Given the description of an element on the screen output the (x, y) to click on. 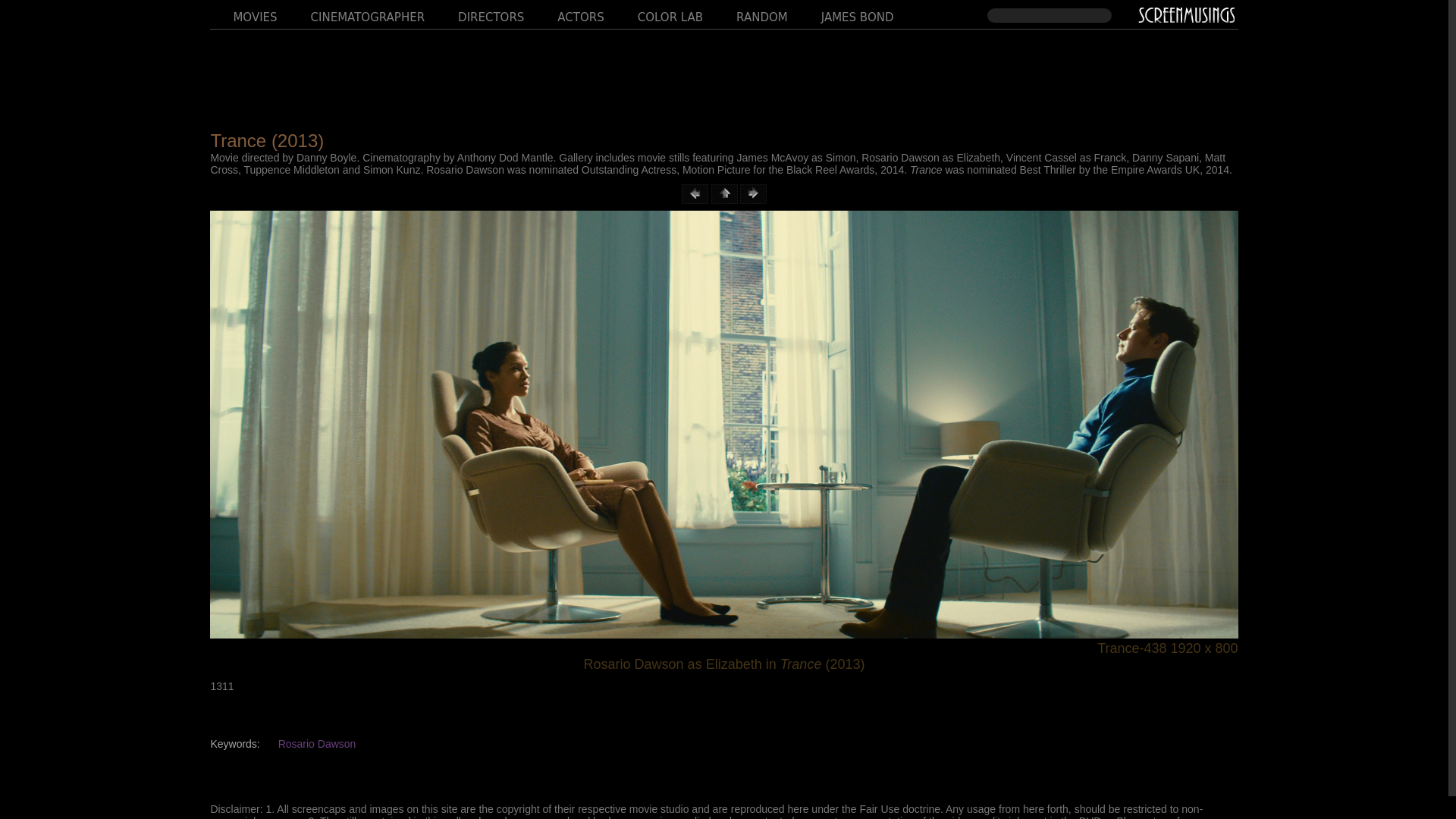
search movies, actors and artists (1049, 15)
CINEMATOGRAPHER (356, 12)
RANDOM (750, 12)
MOVIES (242, 12)
Advertisement (722, 70)
Trance-438 1920 x 800 (723, 648)
COLOR LAB (658, 12)
Rosario Dawson (317, 743)
JAMES BOND (845, 12)
DIRECTORS (479, 12)
ACTORS (569, 12)
